Given the description of an element on the screen output the (x, y) to click on. 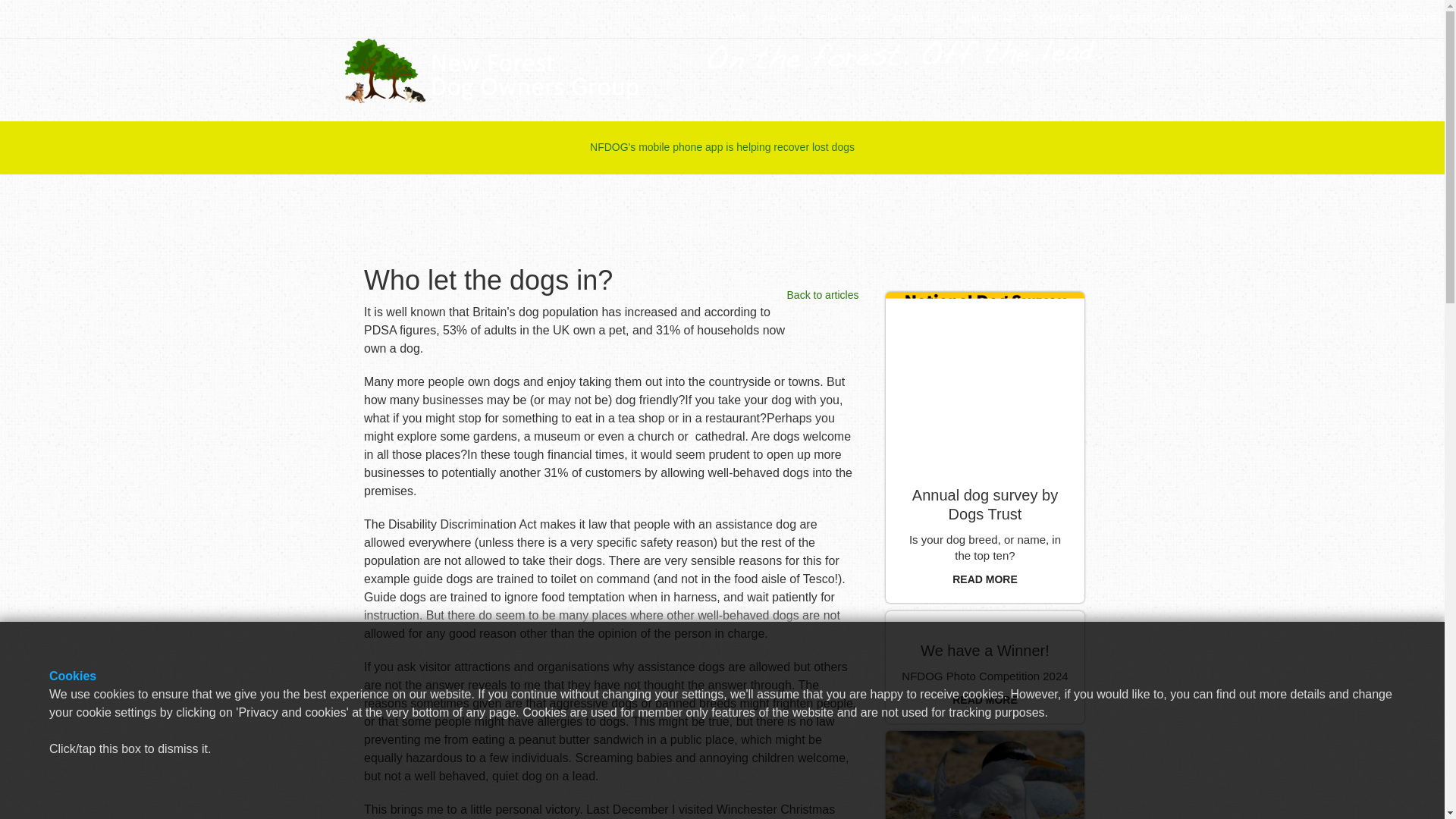
RESEARCH FUND (1151, 18)
ARTICLES (915, 18)
JOIN (825, 18)
HOME (730, 18)
RESEARCH FUND (1151, 18)
LOST DOGS (1340, 18)
APP (863, 18)
CAMPAIGNS (987, 18)
Back to articles (823, 295)
SOCIAL (1229, 18)
